Given the description of an element on the screen output the (x, y) to click on. 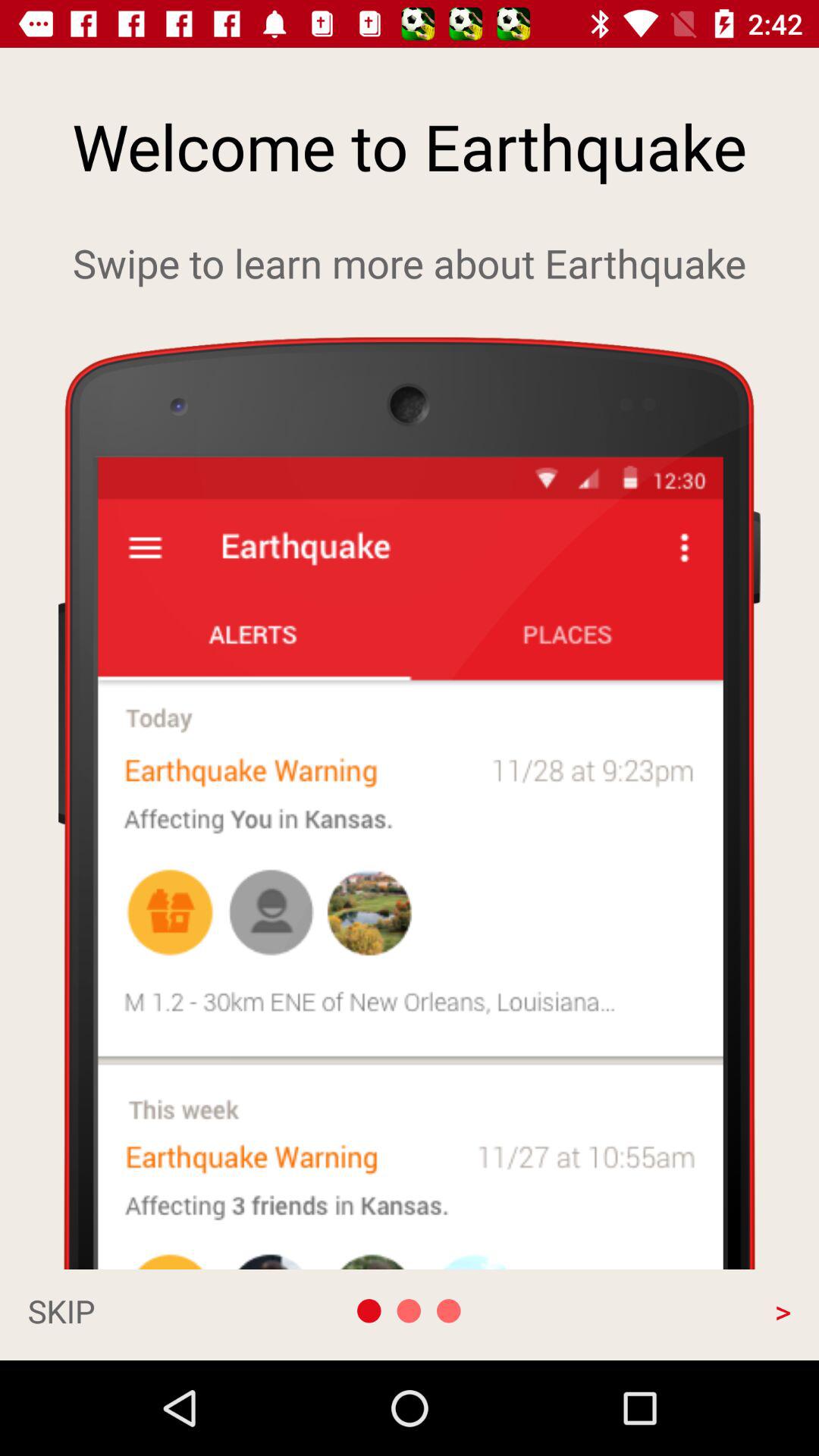
flip until the > (677, 1310)
